Given the description of an element on the screen output the (x, y) to click on. 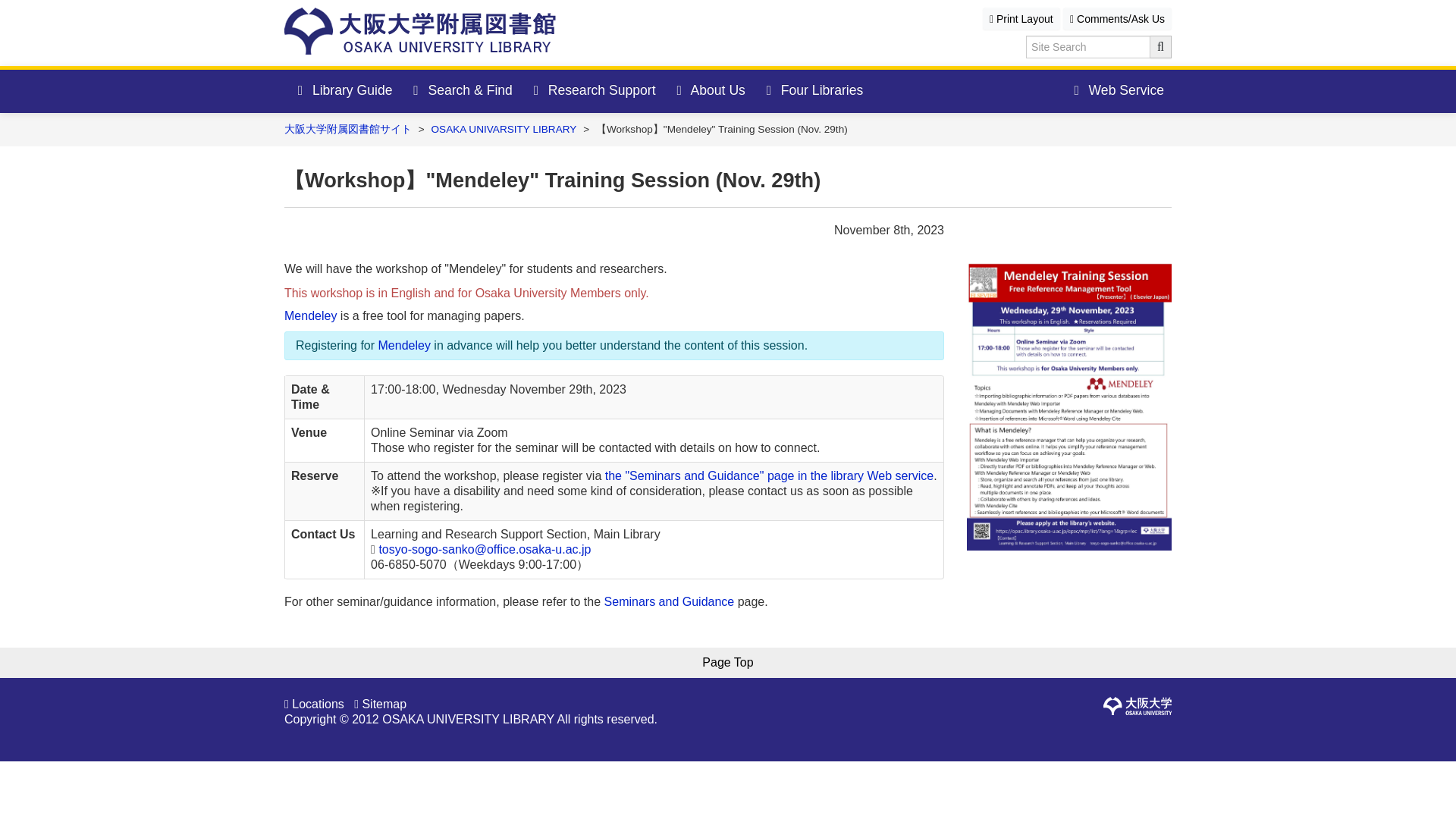
Go to OSAKA UNIVARSITY LIBRARY. (503, 129)
 Library Guide (341, 89)
 Research Support (591, 89)
Osaka University Library (419, 30)
Print Layout (1020, 18)
